Given the description of an element on the screen output the (x, y) to click on. 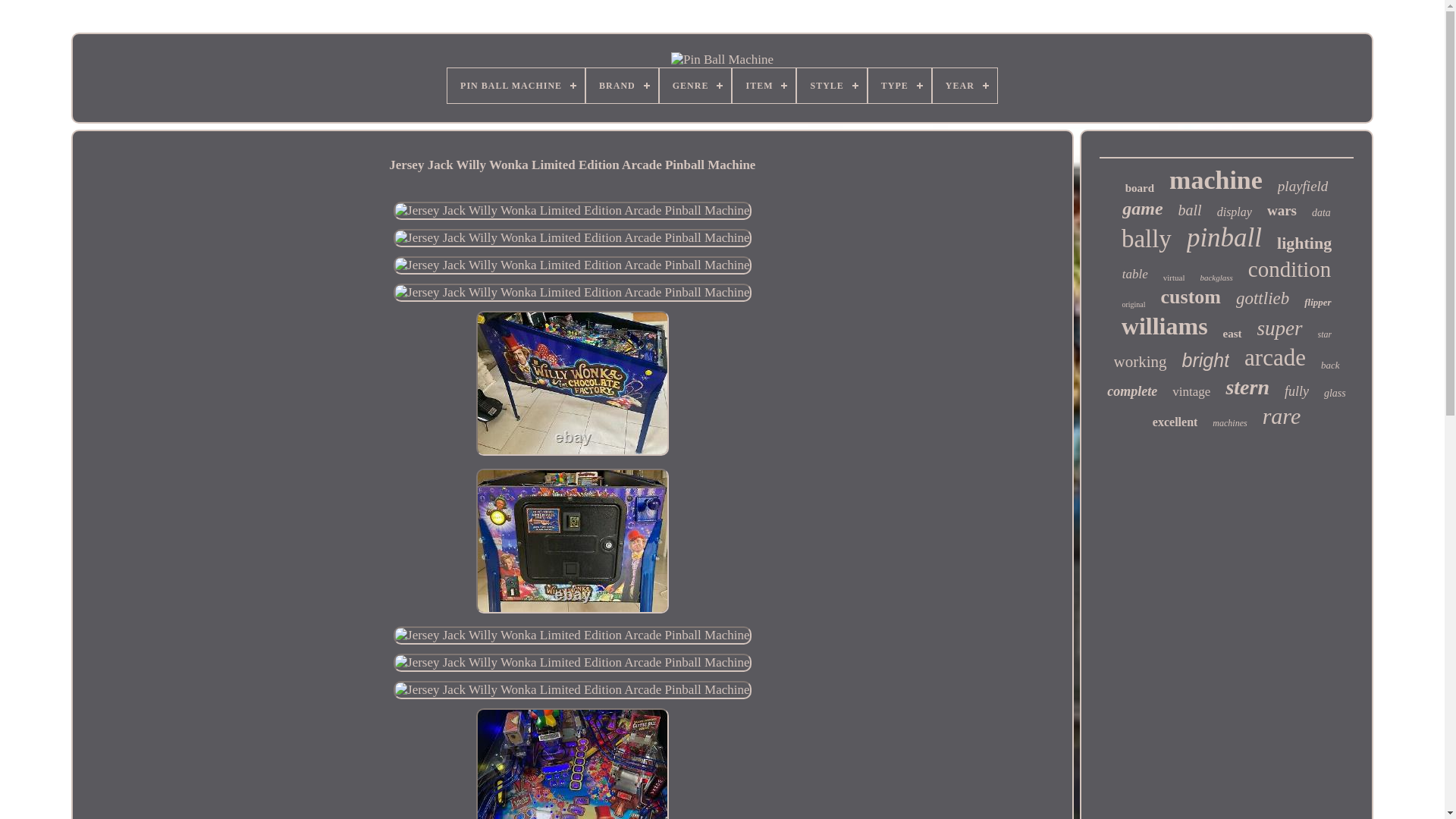
ITEM (763, 85)
PIN BALL MACHINE (515, 85)
BRAND (622, 85)
